Given the description of an element on the screen output the (x, y) to click on. 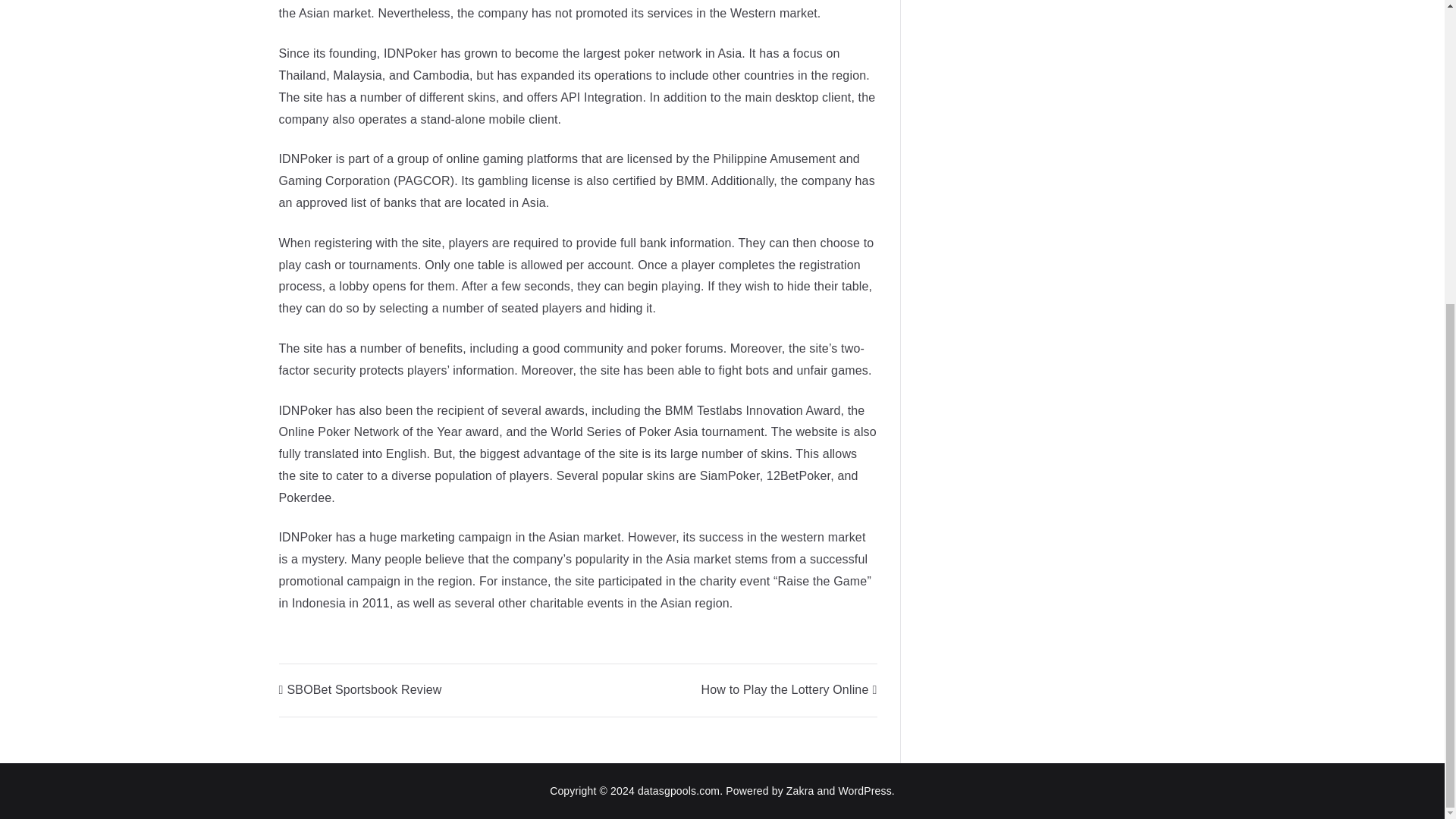
Zakra (799, 790)
WordPress (864, 790)
Zakra (799, 790)
SBOBet Sportsbook Review (360, 689)
datasgpools.com (678, 790)
WordPress (864, 790)
How to Play the Lottery Online (789, 689)
datasgpools.com (678, 790)
